Given the description of an element on the screen output the (x, y) to click on. 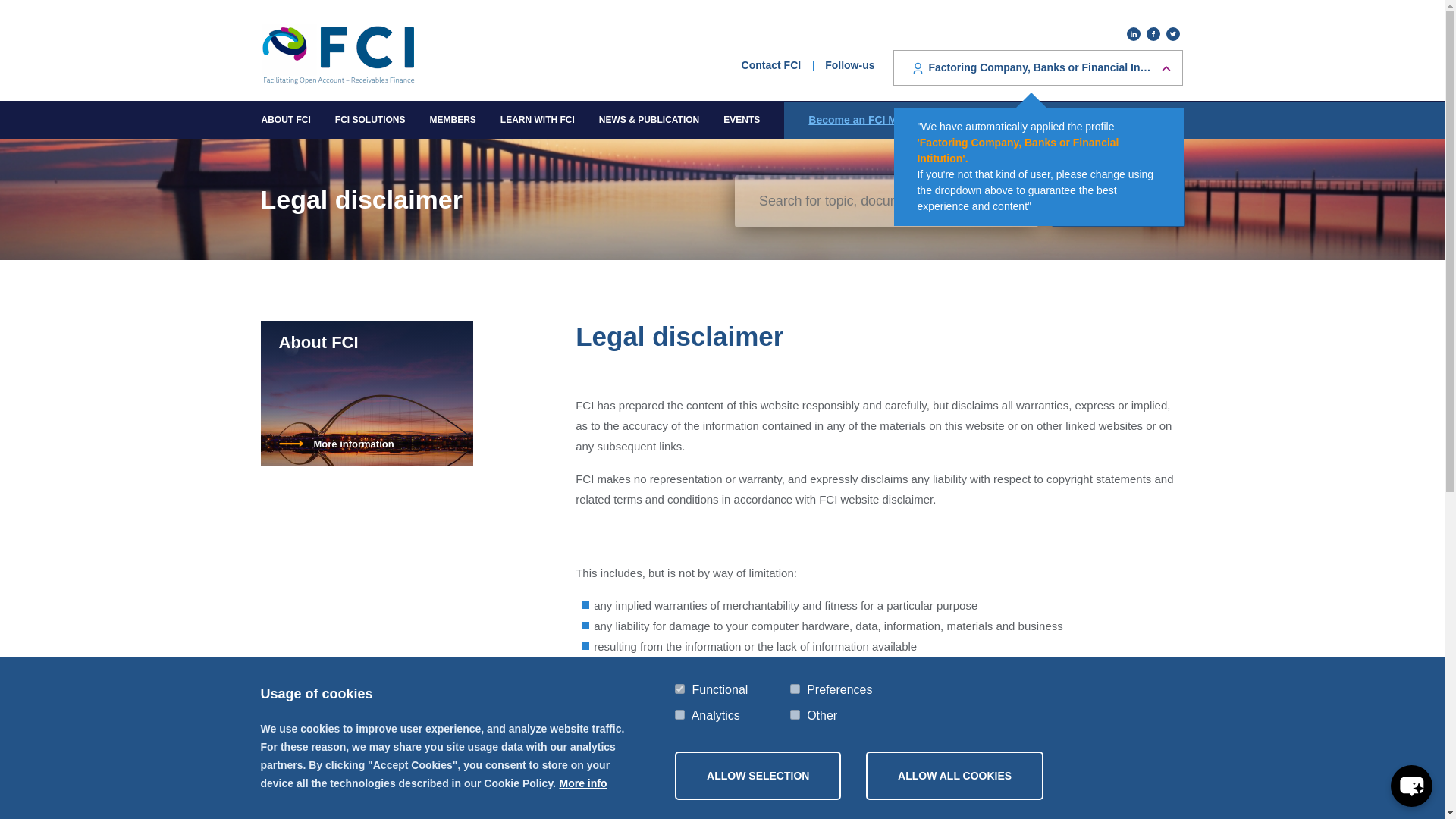
Contact FCI (771, 64)
SEARCH ON FCI (1117, 201)
other (794, 714)
functional (679, 688)
Skip to main content (721, 1)
Tooltip on top (1037, 67)
preferences (794, 688)
Factoring Company, Banks or Financial Institution (1037, 67)
analytics (679, 714)
